Given the description of an element on the screen output the (x, y) to click on. 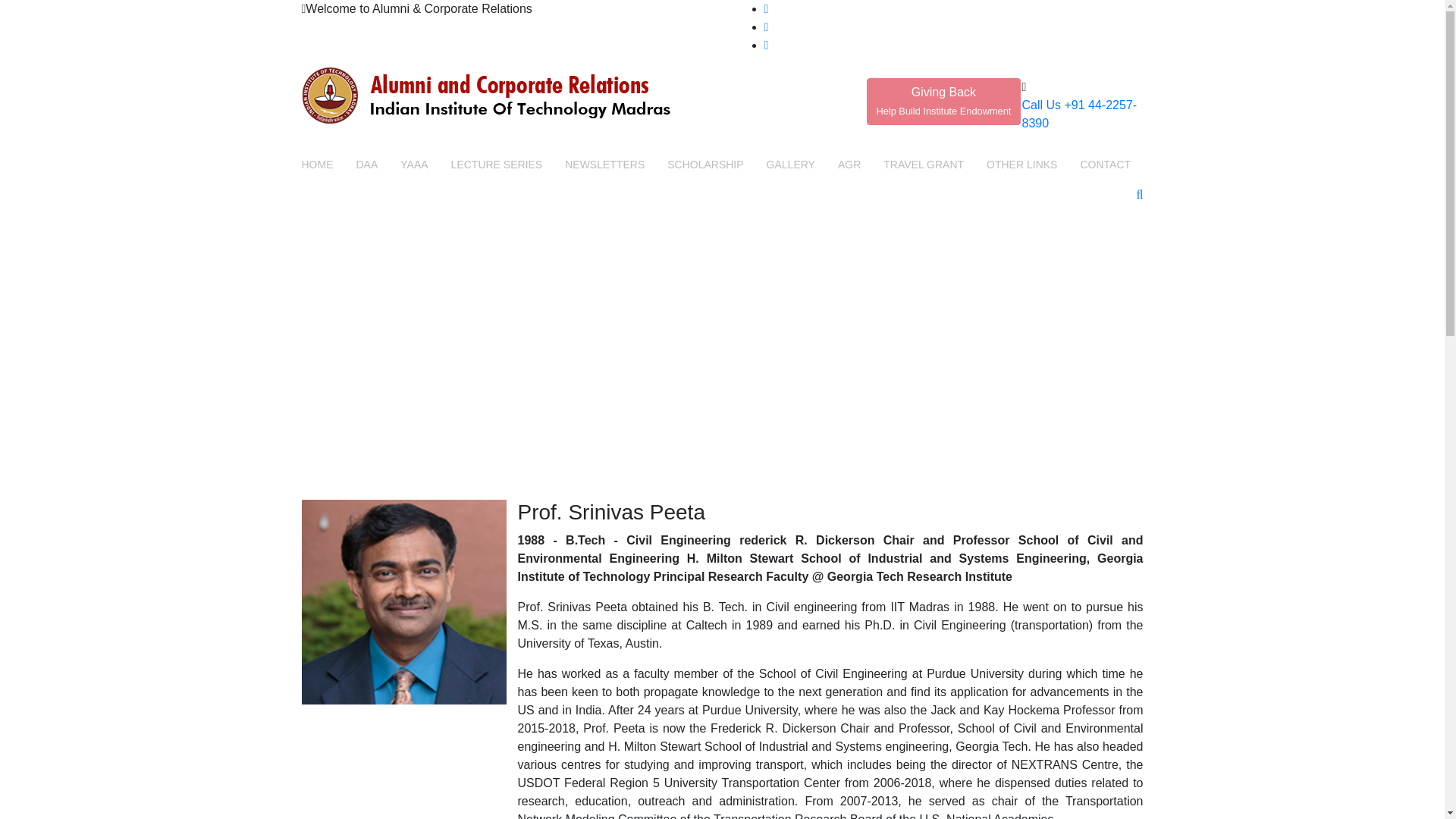
LECTURE SERIES (497, 164)
Prof. Srinivas Peeta (403, 601)
GALLERY (791, 164)
SCHOLARSHIP (943, 100)
NEWSLETTERS (704, 164)
